Given the description of an element on the screen output the (x, y) to click on. 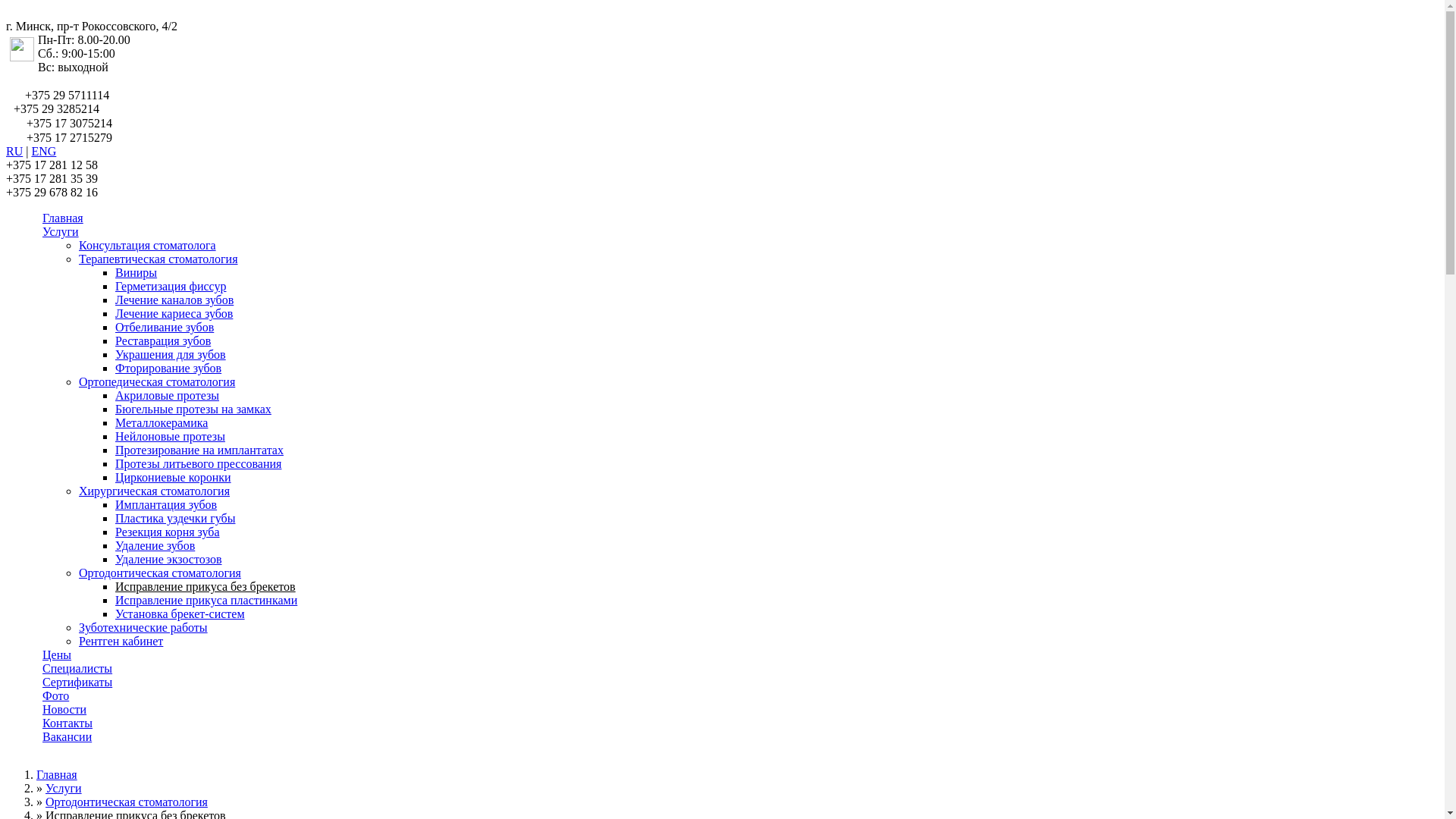
ENG Element type: text (43, 150)
RU Element type: text (14, 150)
